Given the description of an element on the screen output the (x, y) to click on. 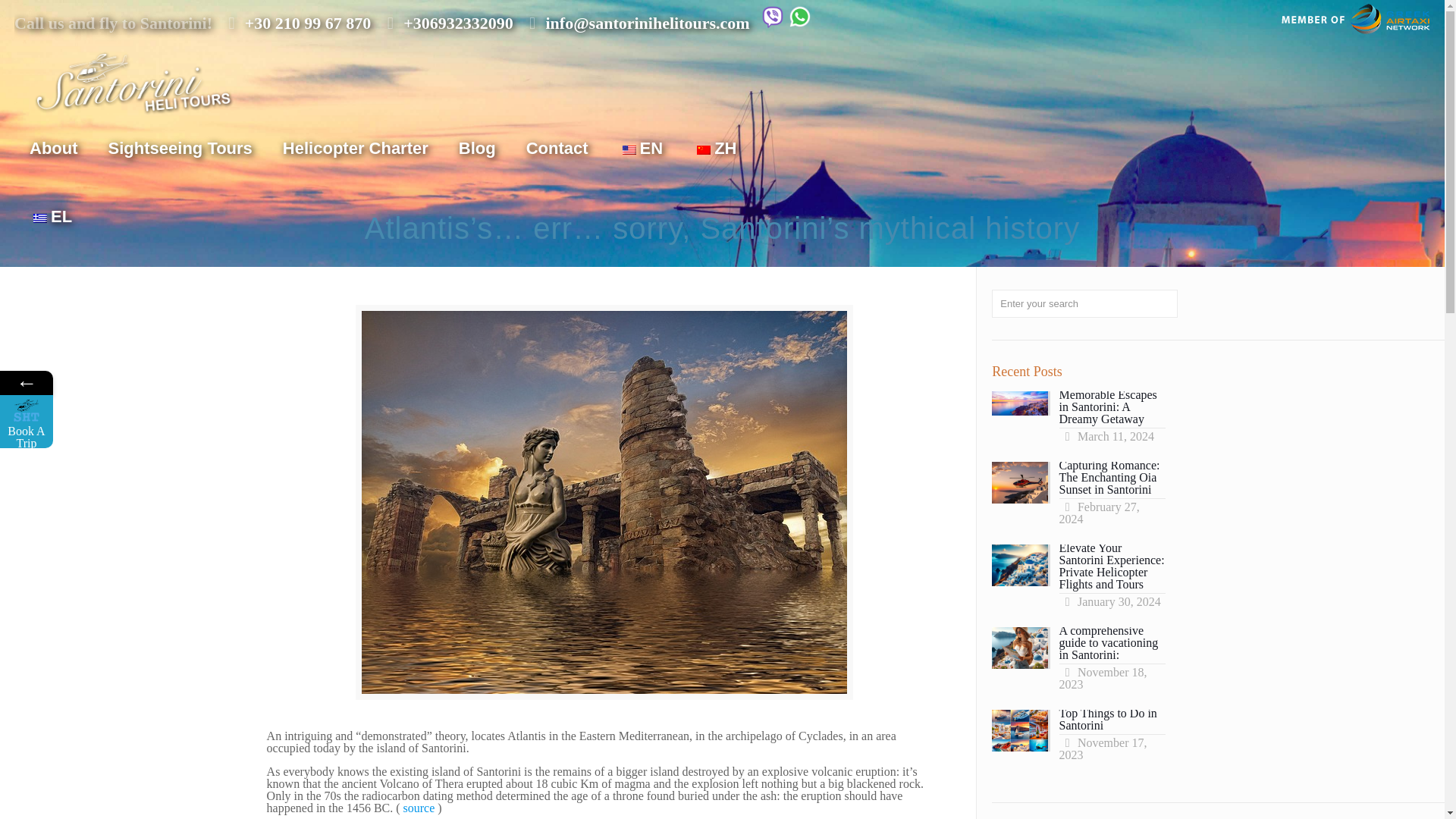
EN (641, 148)
EL (50, 216)
Greek (39, 217)
Sightseeing Tours (180, 148)
Helicopter Charter (355, 148)
source (420, 807)
English (629, 149)
Blog (477, 148)
Chinese (703, 149)
Contact (557, 148)
ZH (714, 148)
Santorini Heli Tours (131, 79)
About (53, 148)
